Given the description of an element on the screen output the (x, y) to click on. 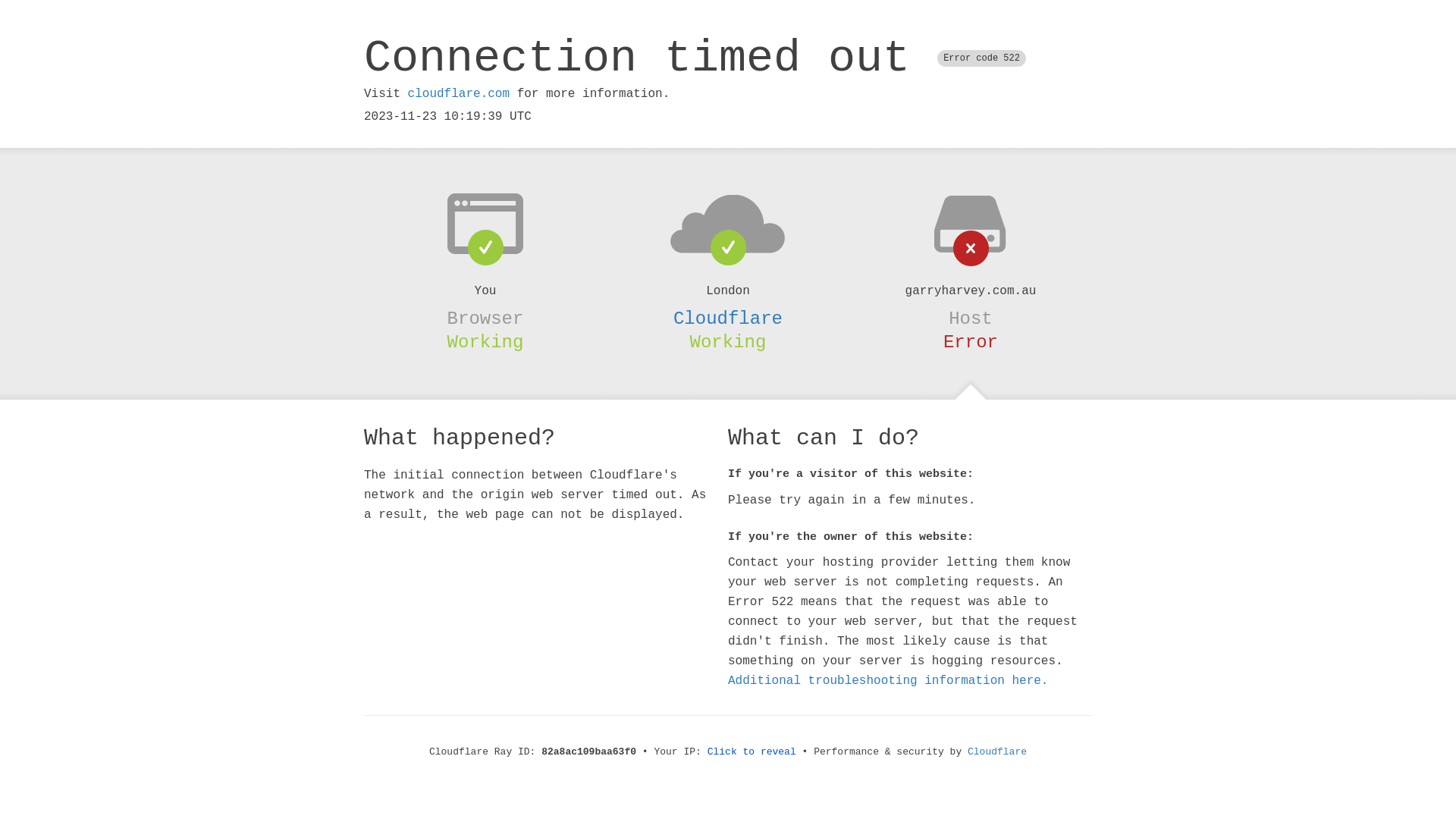
Cloudflare Element type: text (727, 318)
Cloudflare Element type: text (996, 751)
Click to reveal Element type: text (751, 751)
cloudflare.com Element type: text (458, 93)
Additional troubleshooting information here. Element type: text (888, 680)
